Given the description of an element on the screen output the (x, y) to click on. 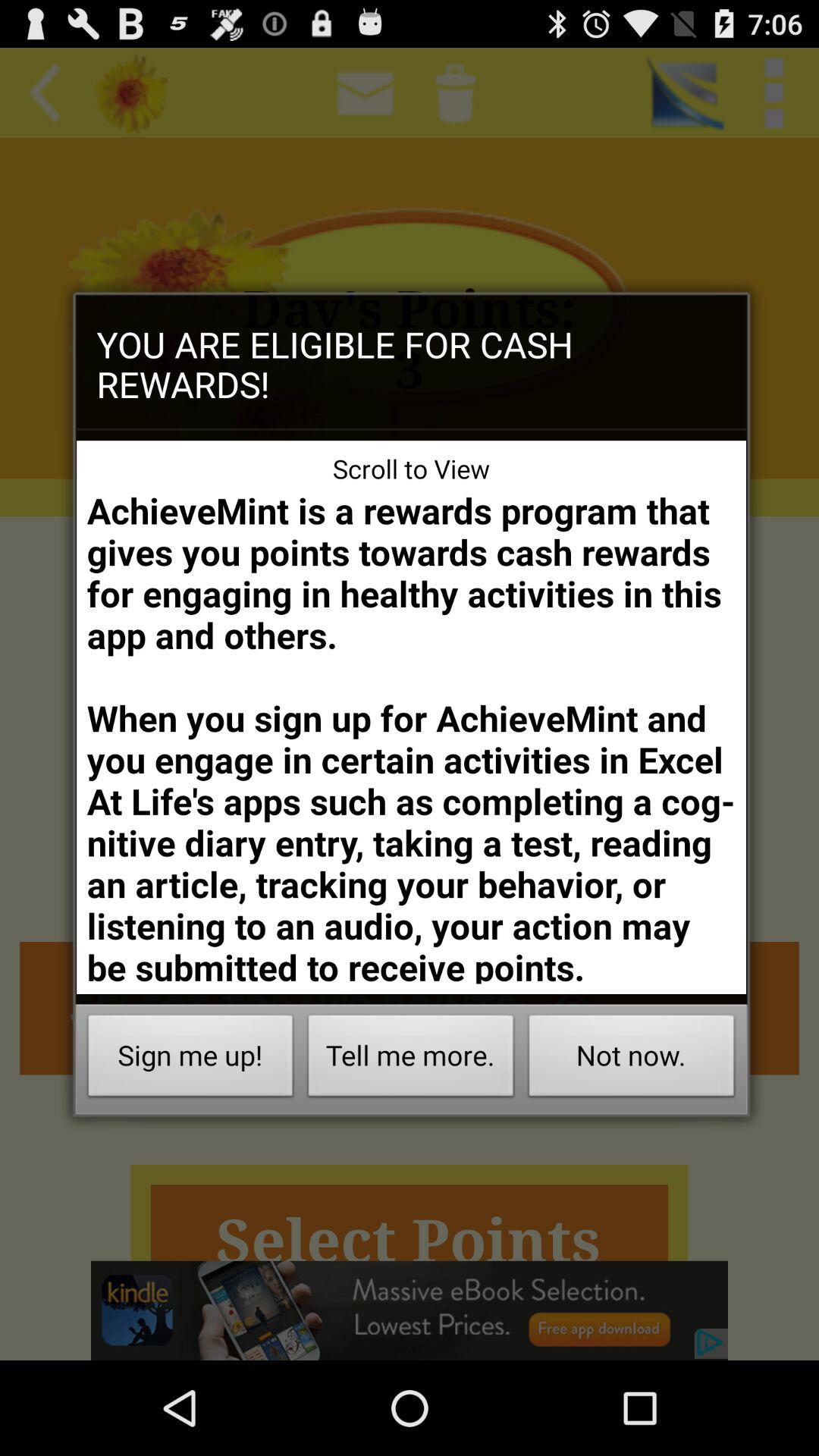
click the button to the left of the not now. item (410, 1059)
